Given the description of an element on the screen output the (x, y) to click on. 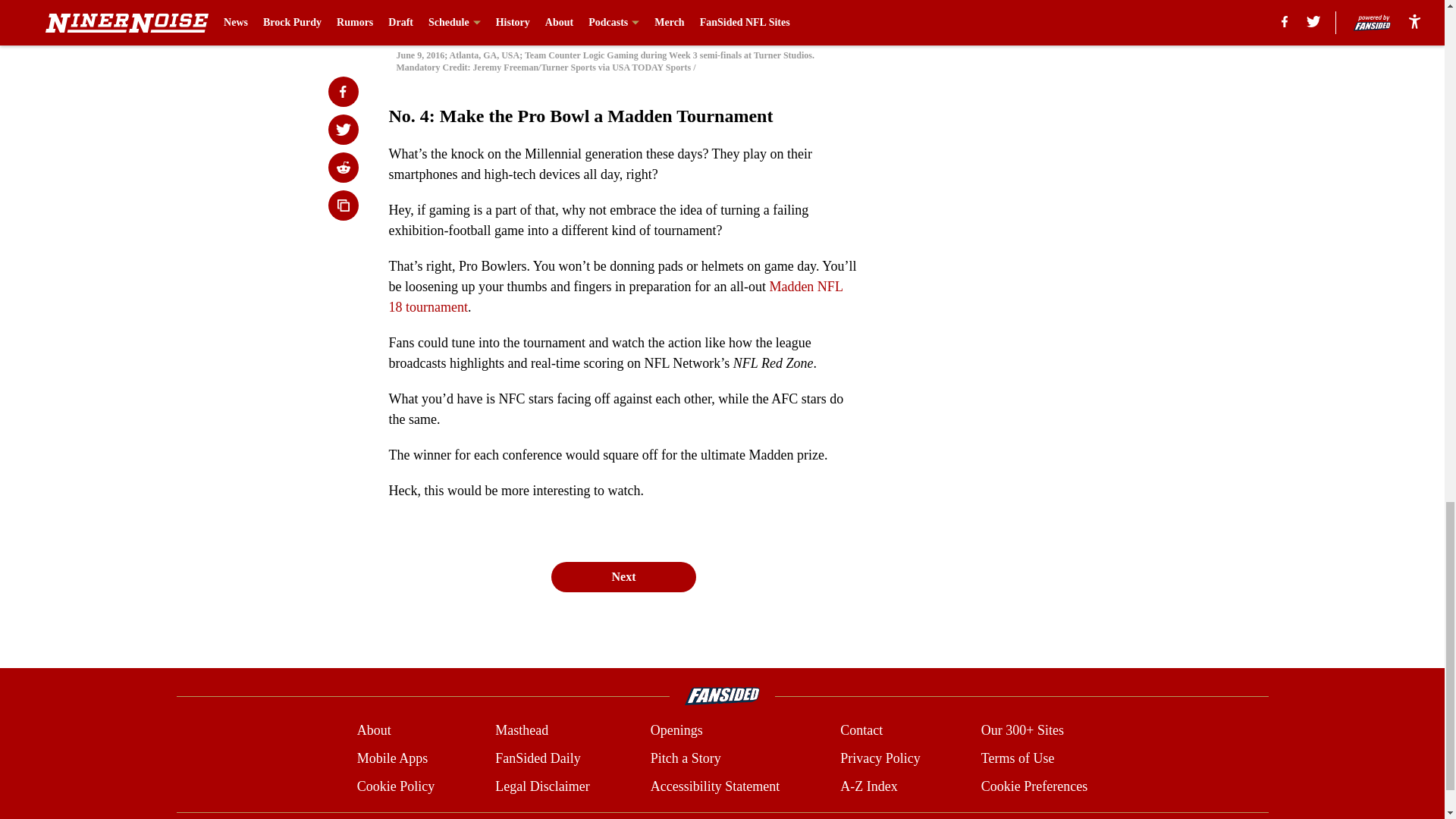
FanSided Daily (537, 758)
Madden NFL 18 tournament (615, 296)
Openings (676, 730)
Mobile Apps (392, 758)
Next (622, 576)
Masthead (521, 730)
Contact (861, 730)
About (373, 730)
